Given the description of an element on the screen output the (x, y) to click on. 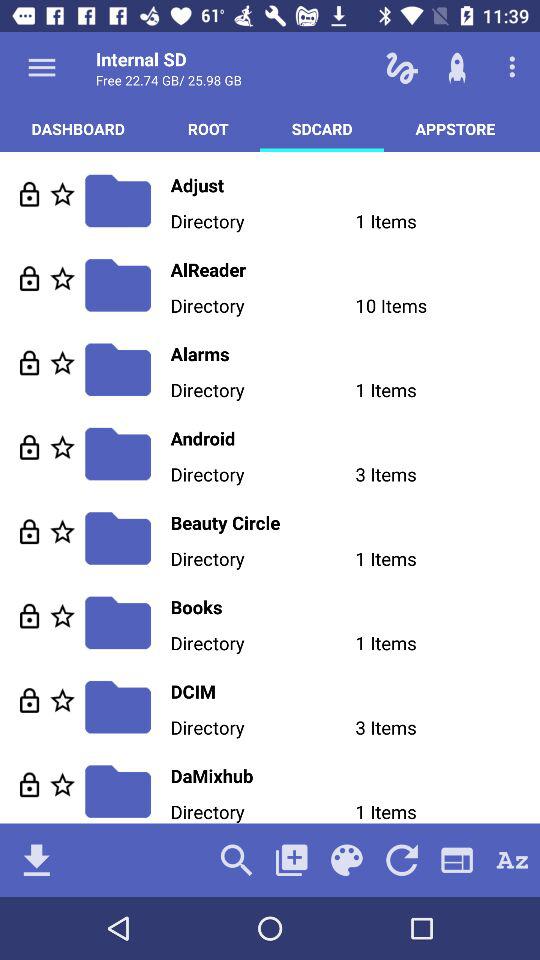
swipe to dcim icon (355, 691)
